Given the description of an element on the screen output the (x, y) to click on. 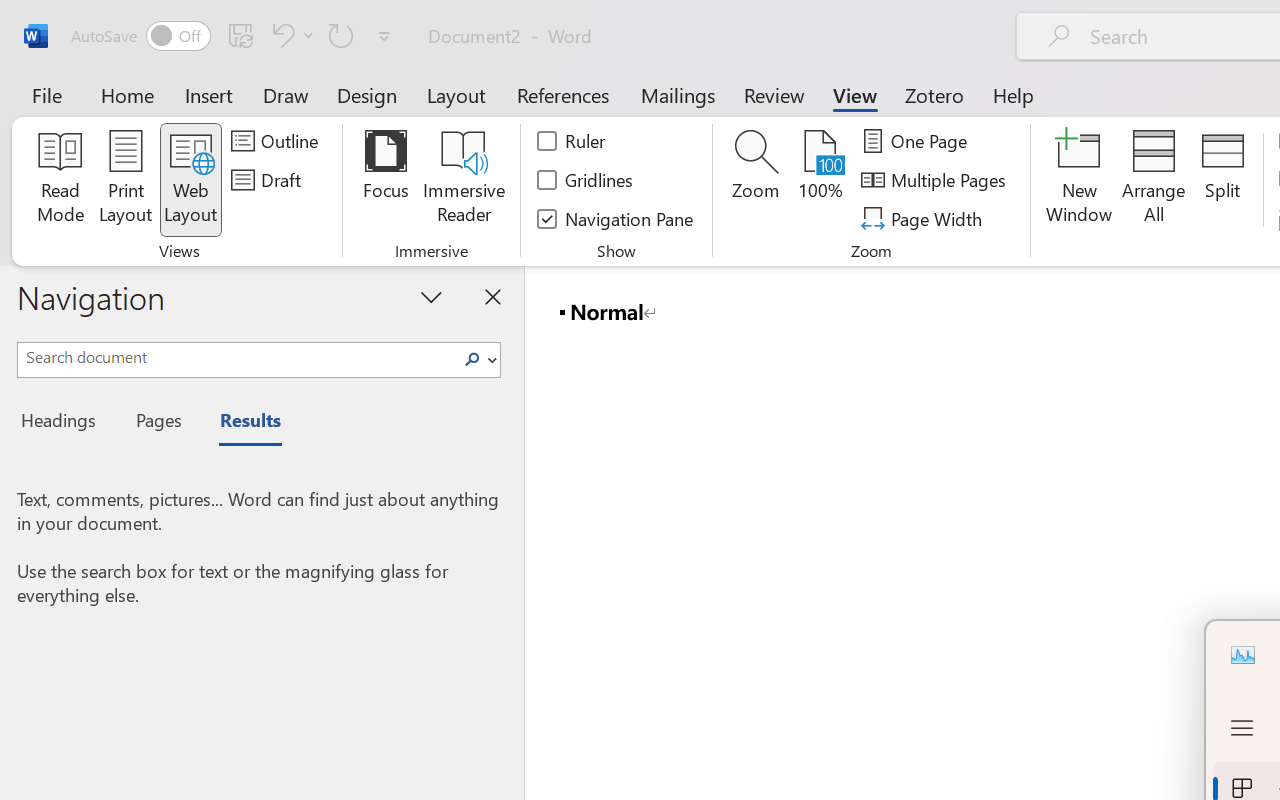
Navigation Pane (616, 218)
Mailings (678, 94)
Undo <ApplyStyleToDoc>b__0 (280, 35)
